Given the description of an element on the screen output the (x, y) to click on. 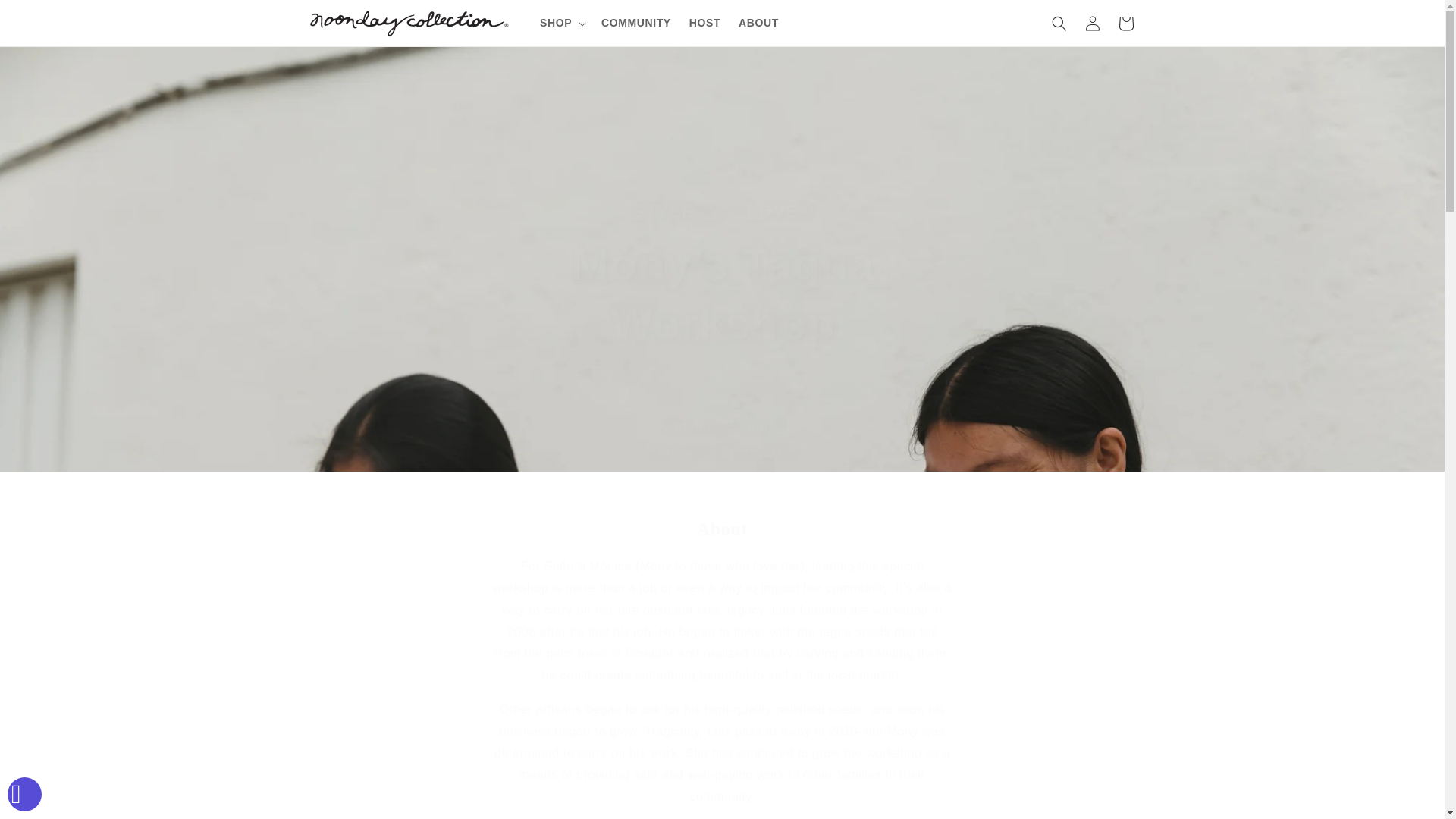
Skip to content (45, 17)
About (721, 528)
